Given the description of an element on the screen output the (x, y) to click on. 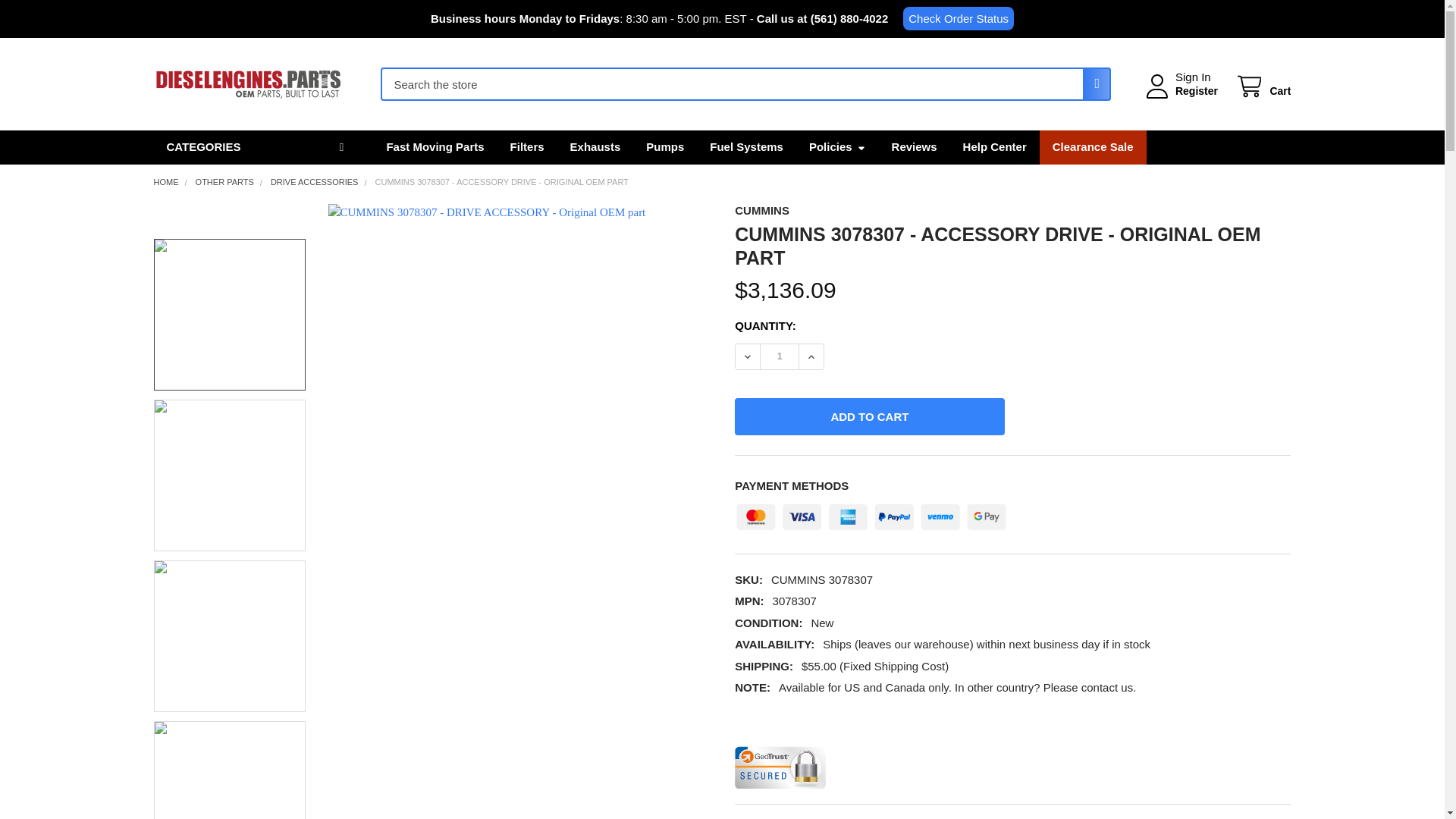
Sign In (1192, 77)
CUMMINS 3078307 - DRIVE ACCESSORY - Original OEM part (229, 770)
Check Order Status (957, 18)
Register (1195, 91)
Search (1092, 83)
Search (1092, 83)
CATEGORIES (255, 146)
Cart (1262, 86)
1 (778, 356)
Add to Cart (869, 416)
